Given the description of an element on the screen output the (x, y) to click on. 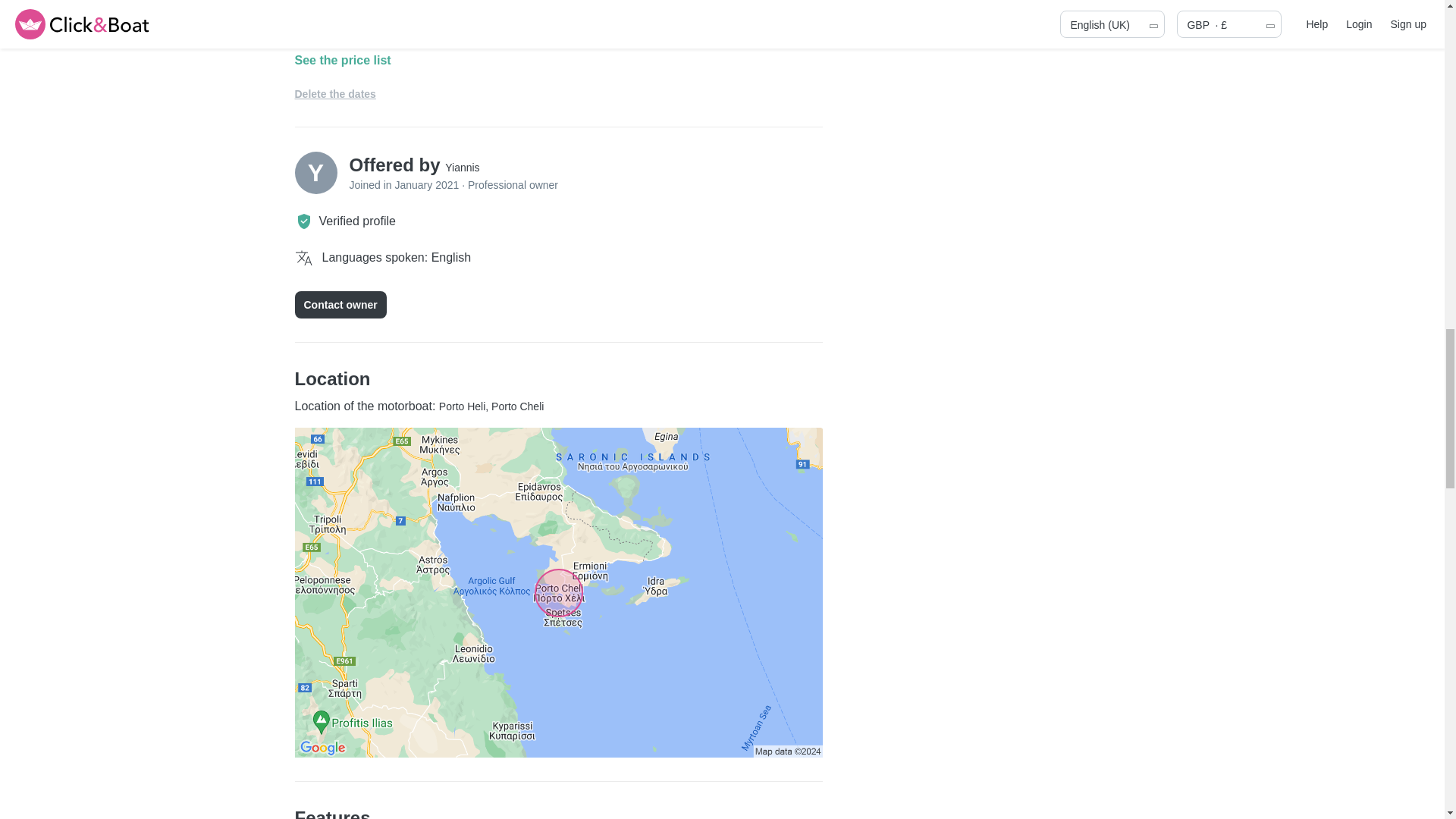
Delete the dates (334, 93)
Yiannis (462, 167)
See the price list (558, 60)
Contact owner (339, 304)
